Given the description of an element on the screen output the (x, y) to click on. 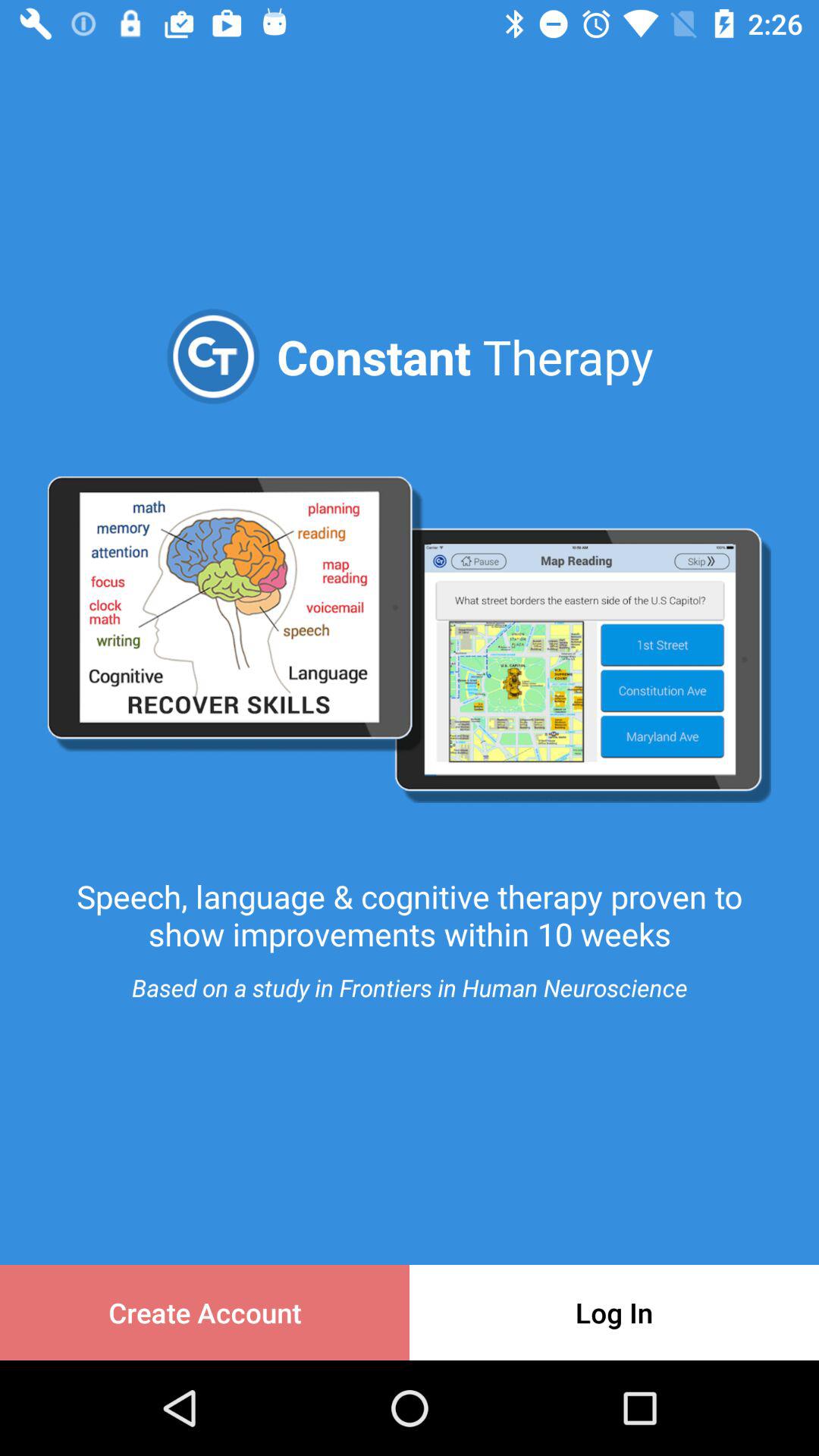
flip to the log in icon (614, 1312)
